Given the description of an element on the screen output the (x, y) to click on. 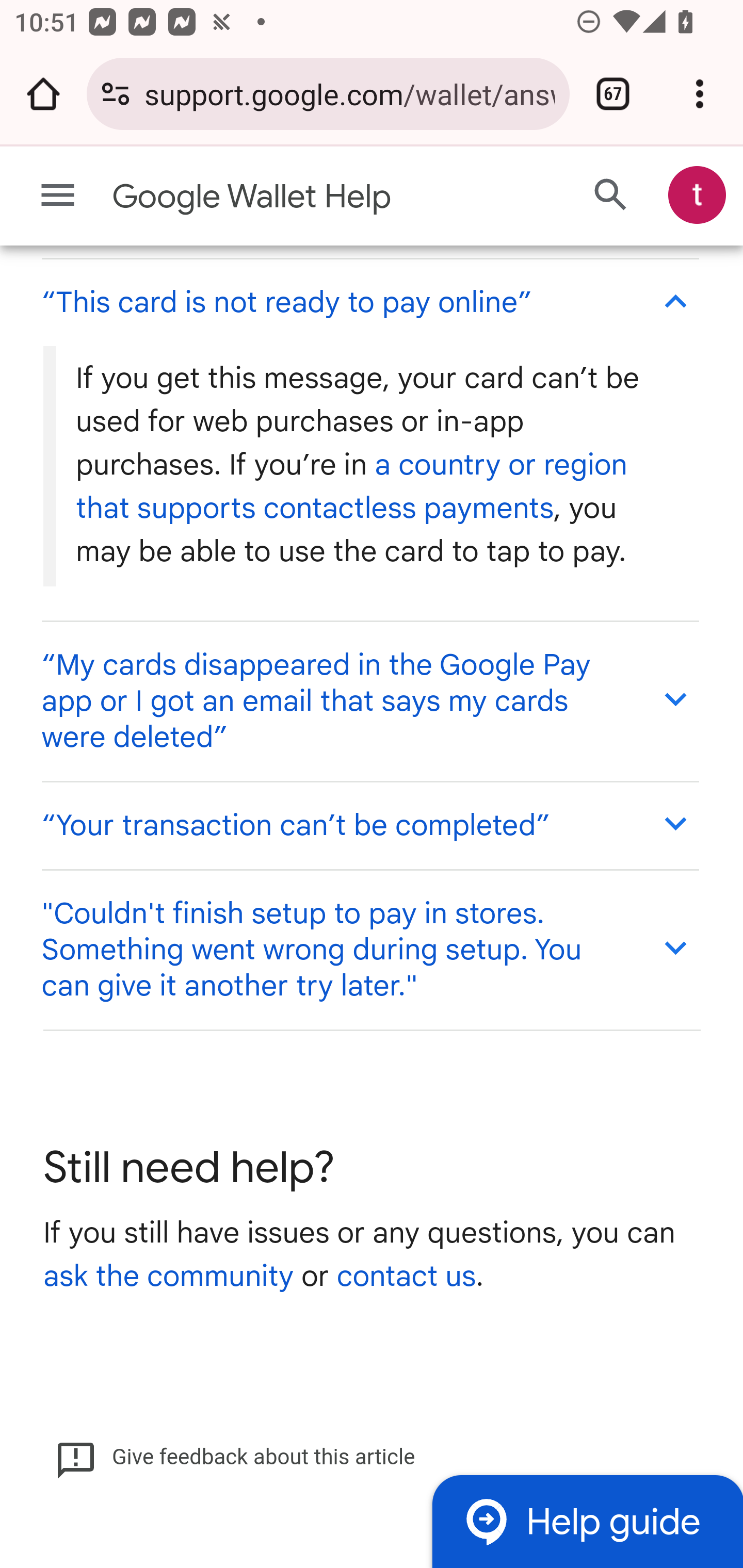
Open the home page (43, 93)
Connection is secure (115, 93)
Switch or close tabs (612, 93)
Customize and control Google Chrome (699, 93)
Main menu (58, 195)
Google Wallet Help (292, 197)
Search Help Center (611, 195)
“This card is not ready to pay online” (369, 302)
“Your transaction can’t be completed” (369, 825)
ask the community (168, 1278)
contact us (406, 1278)
Give feedback about this article (235, 1459)
Help guide (587, 1522)
